Given the description of an element on the screen output the (x, y) to click on. 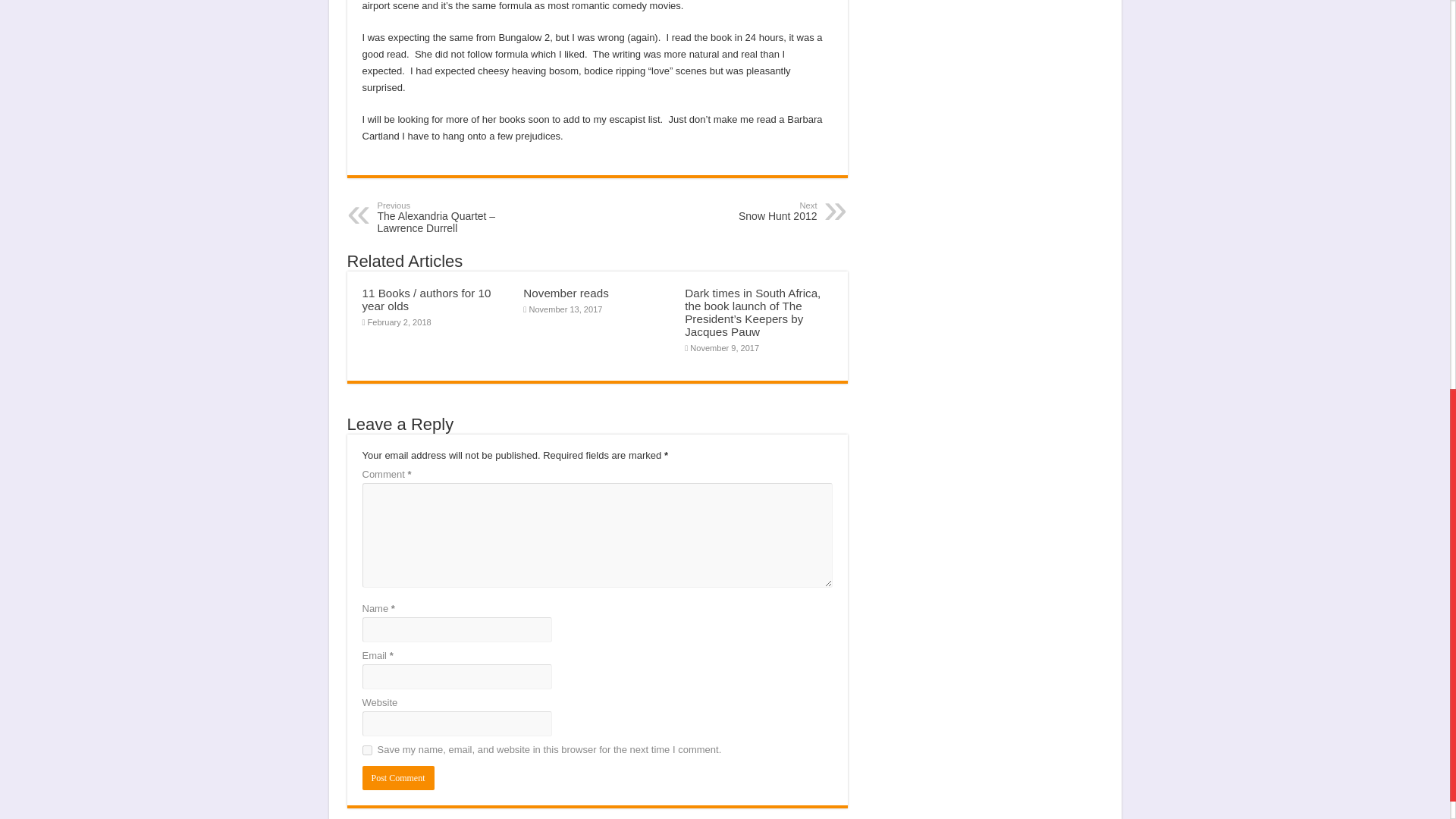
Post Comment (397, 777)
Post Comment (397, 777)
November reads (565, 292)
yes (738, 210)
